Given the description of an element on the screen output the (x, y) to click on. 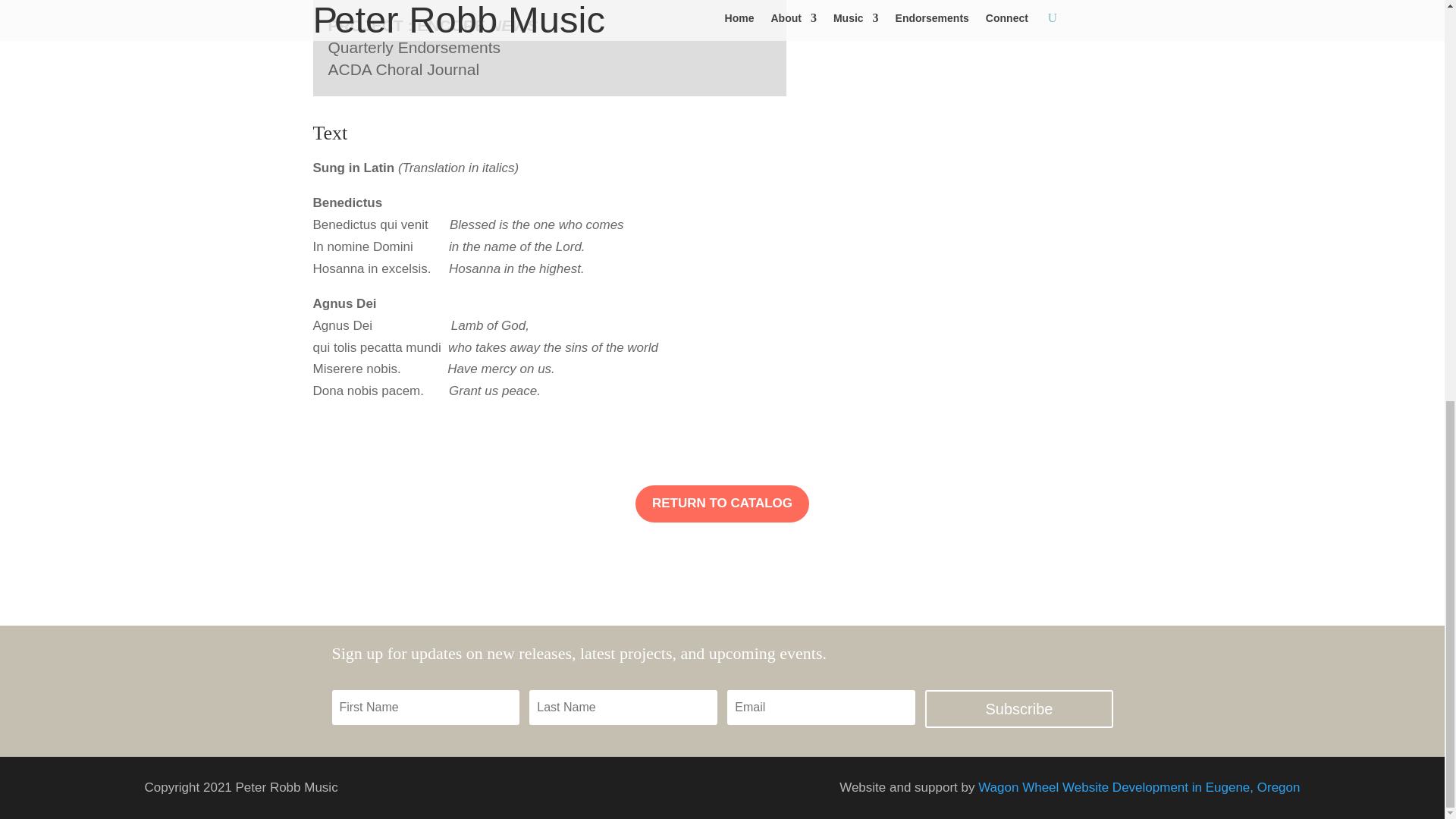
Wagon Wheel Website Development (1139, 787)
RETURN TO CATALOG (721, 503)
Subscribe (1018, 708)
Wagon Wheel Website Development in Eugene, Oregon (1139, 787)
